Given the description of an element on the screen output the (x, y) to click on. 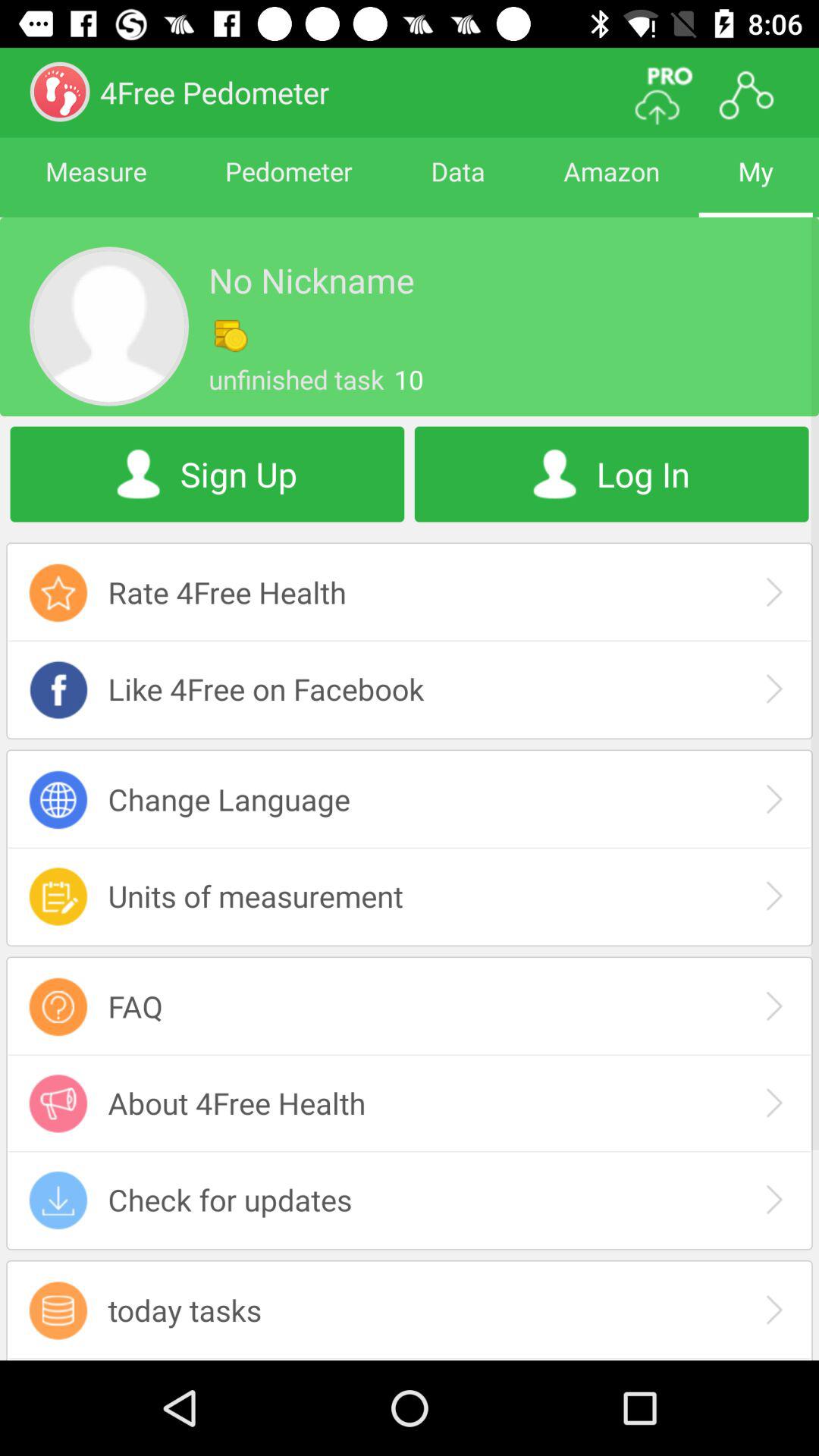
open no nickname app (311, 280)
